Given the description of an element on the screen output the (x, y) to click on. 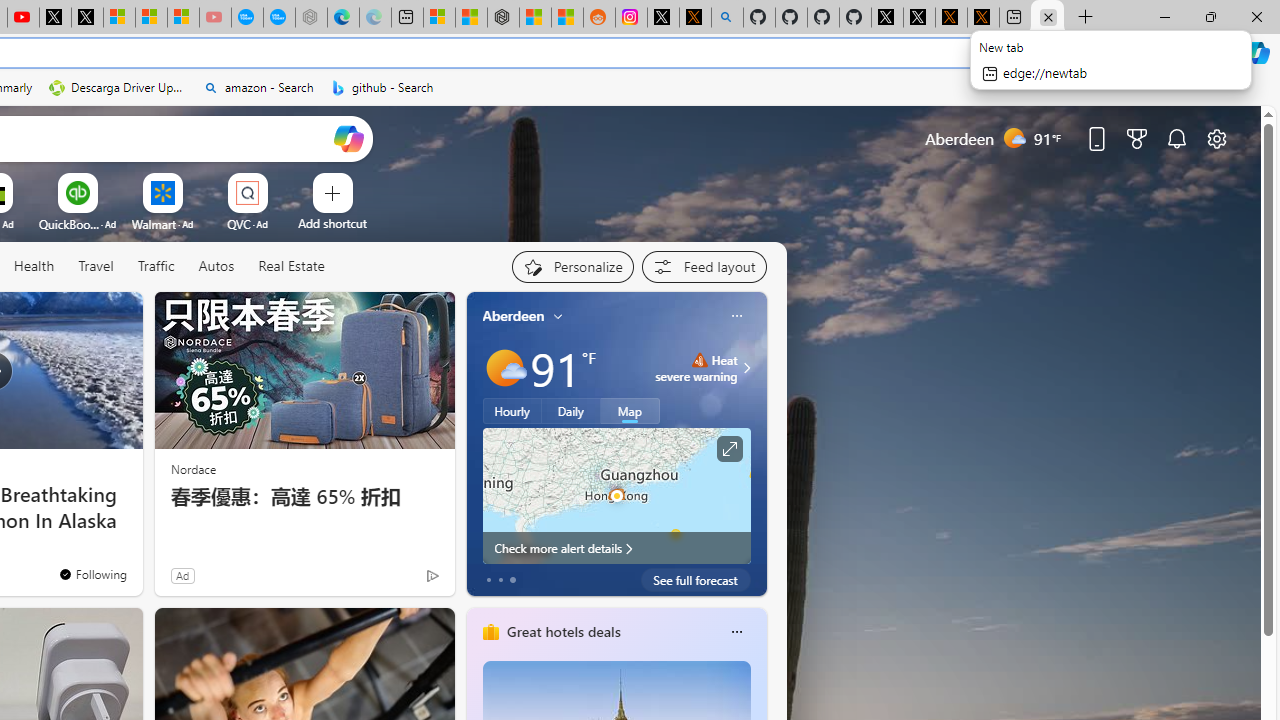
Daily (571, 411)
Log in to X / X (663, 17)
Personalize your feed" (571, 266)
Aberdeen (513, 315)
Map (630, 411)
Mostly sunny (504, 368)
GitHub (@github) / X (919, 17)
Feed settings (703, 266)
